Given the description of an element on the screen output the (x, y) to click on. 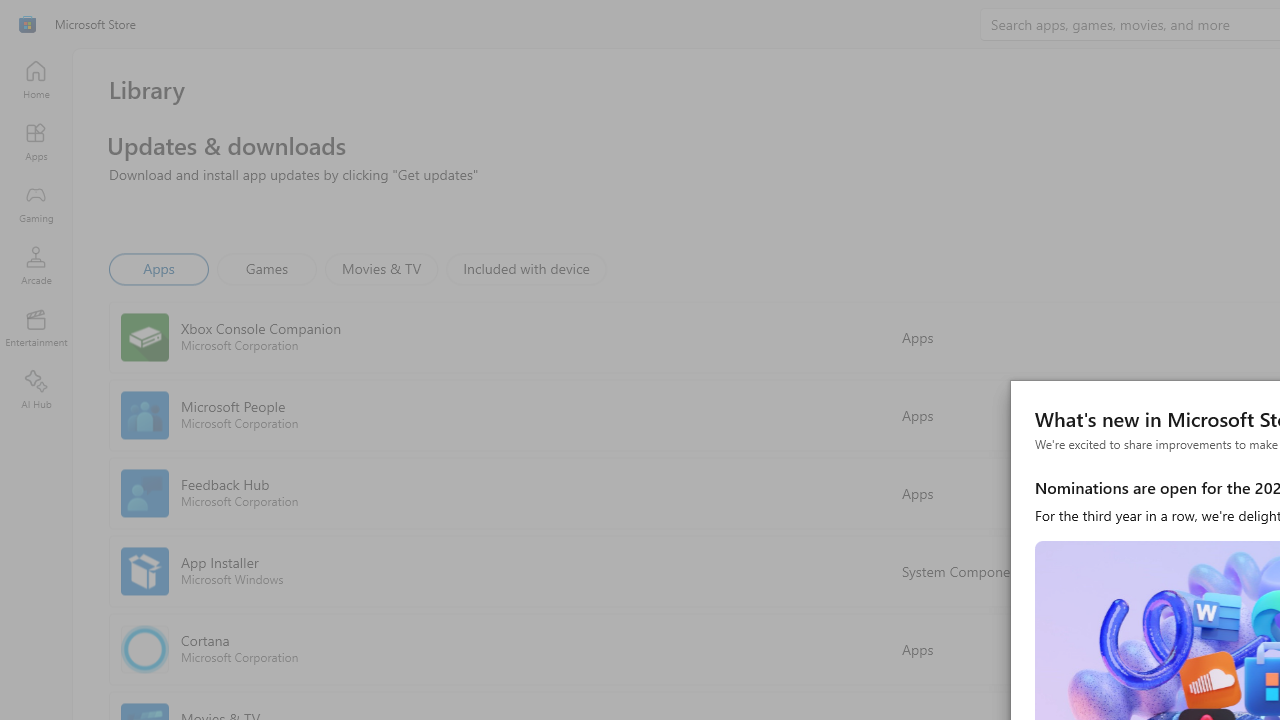
Apps (35, 141)
AI Hub (35, 390)
Gaming (35, 203)
Apps (158, 268)
Movies & TV (381, 268)
Home (35, 79)
Games (267, 268)
Arcade (35, 265)
Class: Image (27, 24)
Entertainment (35, 327)
Included with device (525, 268)
